Given the description of an element on the screen output the (x, y) to click on. 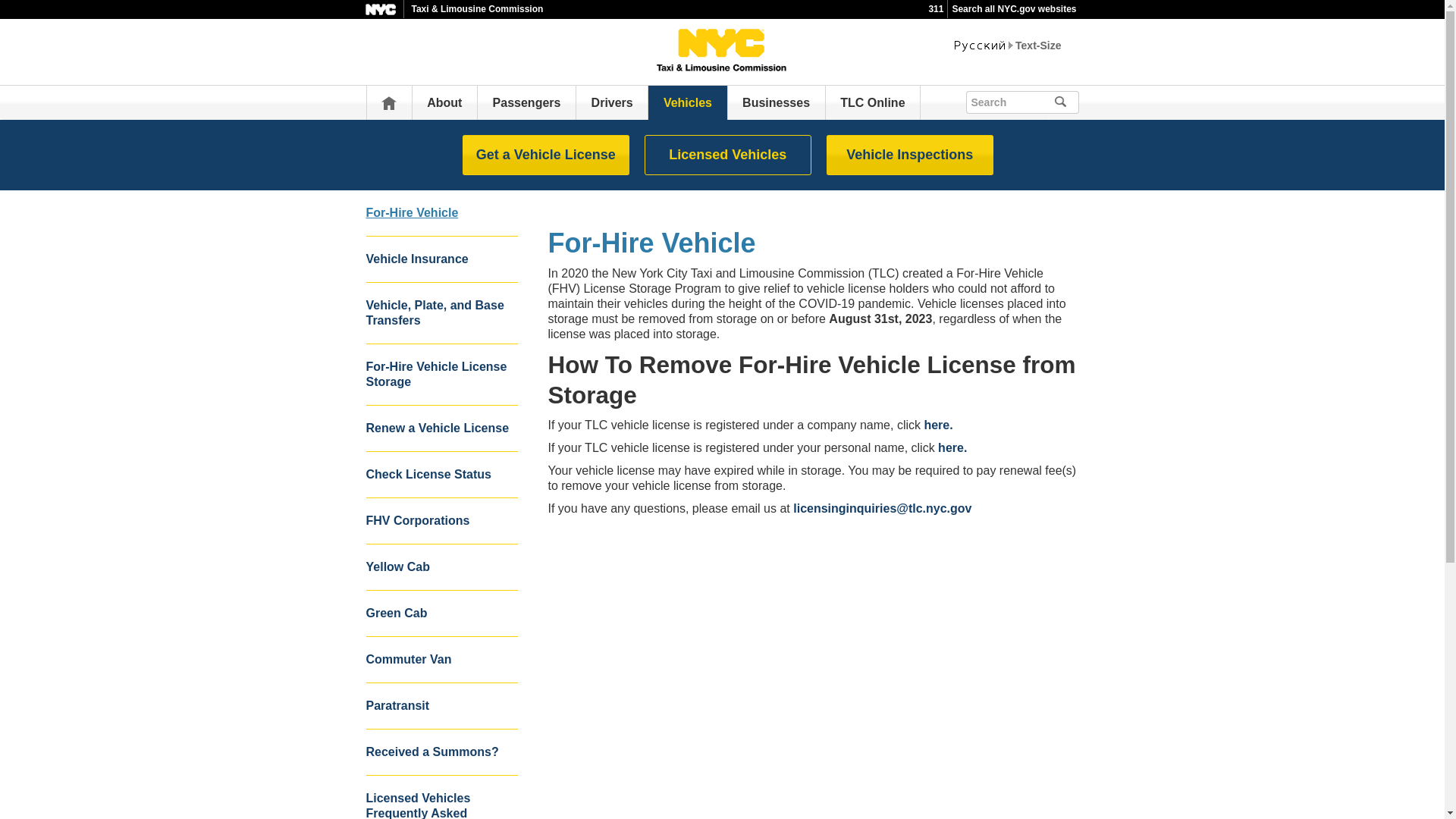
Businesses (775, 102)
Vehicle Inspections (909, 155)
Green Cab (440, 613)
About (443, 102)
Text-Size (1037, 45)
Licensed Vehicles Frequently Asked Questions (440, 797)
Vehicle, Plate, and Base Transfers (440, 312)
Drivers (612, 102)
Search all NYC.gov websites (1013, 9)
Paratransit (440, 706)
submit (1066, 101)
submit (1081, 100)
Passengers (526, 102)
FHV Corporations (440, 520)
Check License Status (440, 474)
